Given the description of an element on the screen output the (x, y) to click on. 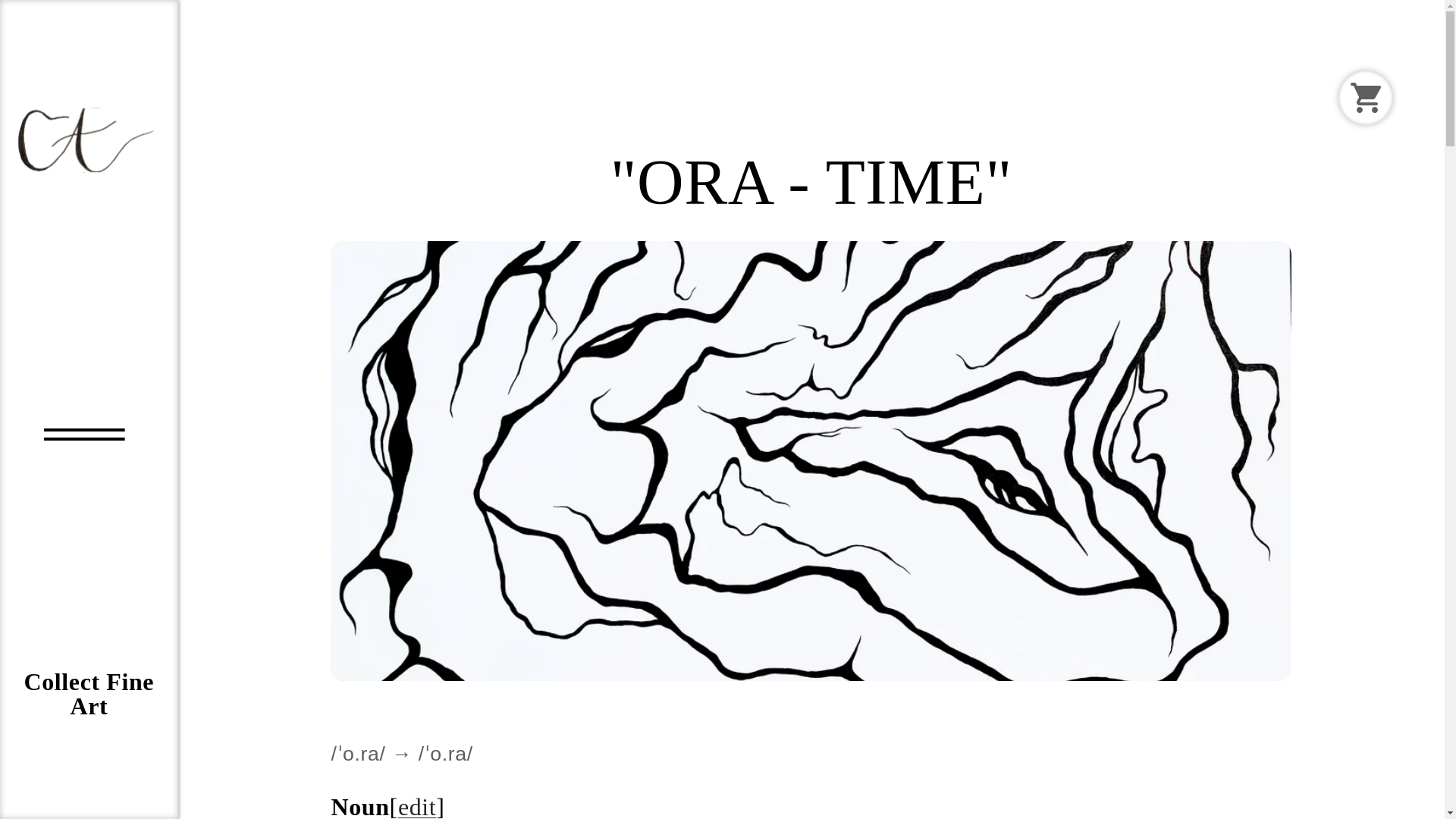
Cart (1365, 97)
edit (416, 806)
Collect Fine Art (88, 693)
Skip to content (46, 18)
